Given the description of an element on the screen output the (x, y) to click on. 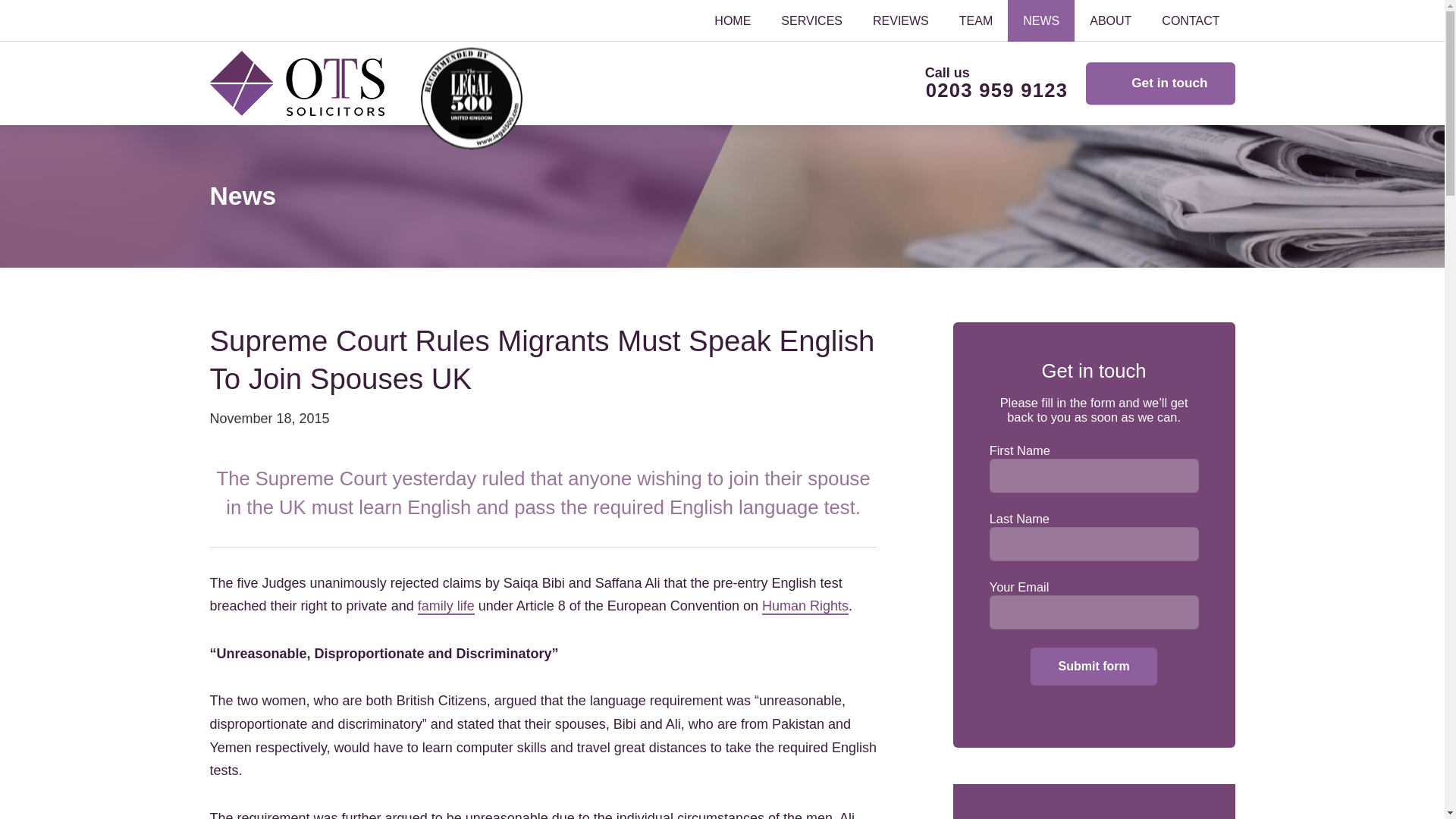
REVIEWS (900, 20)
Human Rights (804, 606)
TEAM (975, 20)
0203 959 9123 (983, 91)
CONTACT (1190, 20)
NEWS (1040, 20)
HOME (731, 20)
Get in touch (1160, 83)
family life (445, 606)
Submit form (1093, 666)
SERVICES (811, 20)
Family Life Solicitors (445, 606)
Submit form (1093, 666)
more on Human Rights (804, 606)
ABOUT (1110, 20)
